Given the description of an element on the screen output the (x, y) to click on. 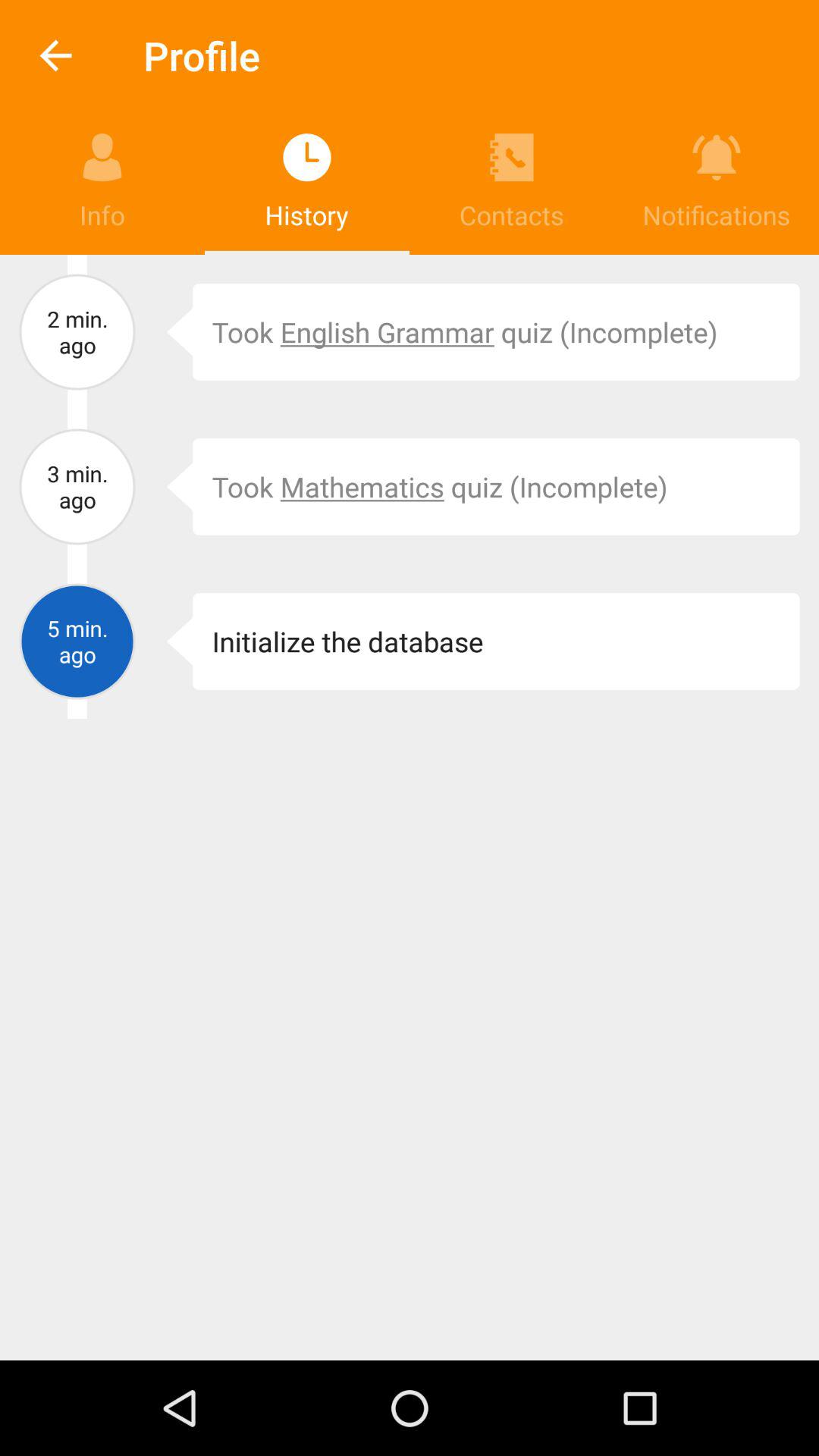
tap the icon to the left of the profile (55, 55)
